Given the description of an element on the screen output the (x, y) to click on. 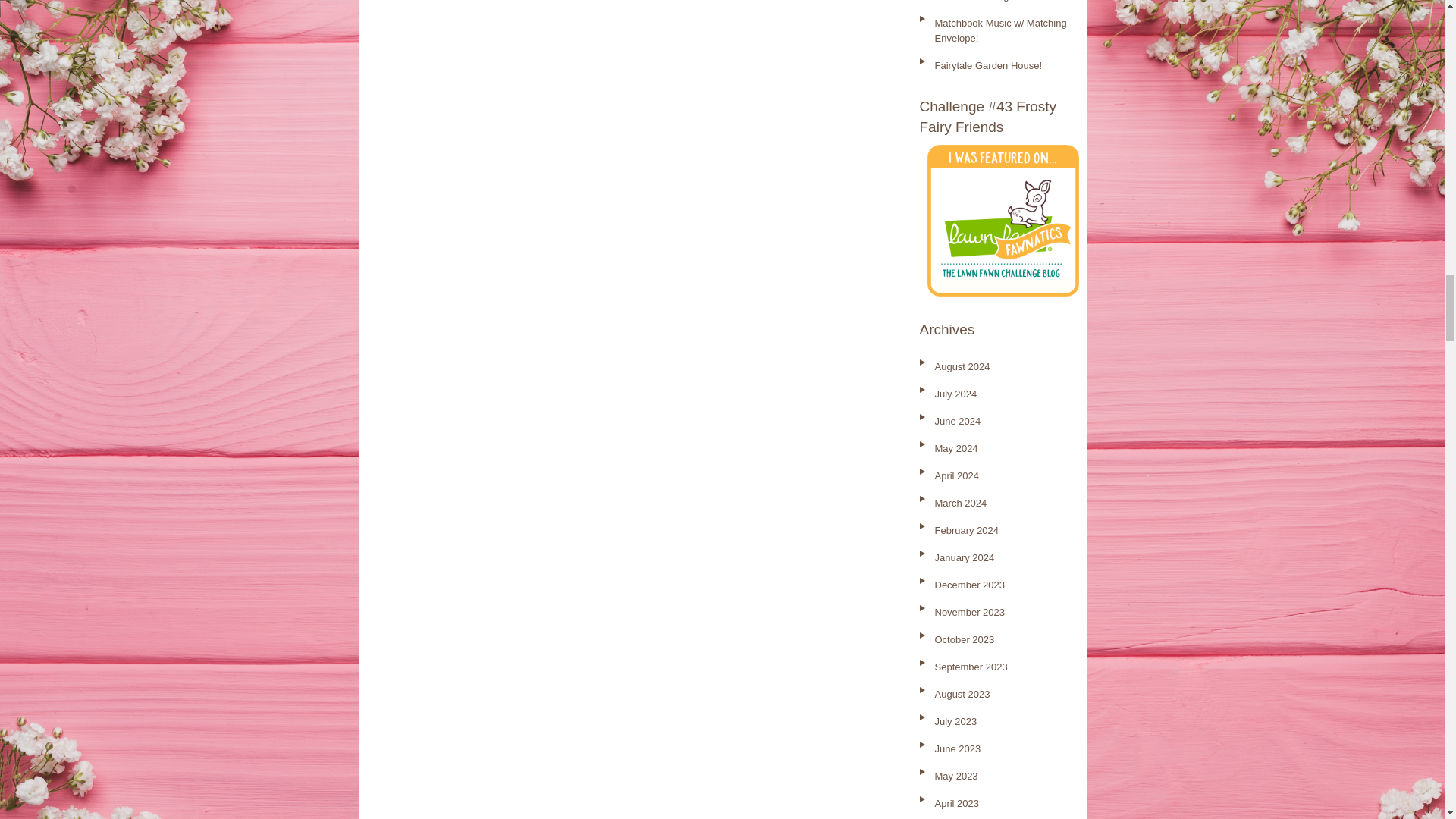
August 2024 (962, 366)
May 2024 (955, 448)
March 2024 (960, 502)
Fairytale Garden House! (988, 65)
July 2024 (955, 393)
April 2024 (956, 475)
June 2024 (956, 420)
